Given the description of an element on the screen output the (x, y) to click on. 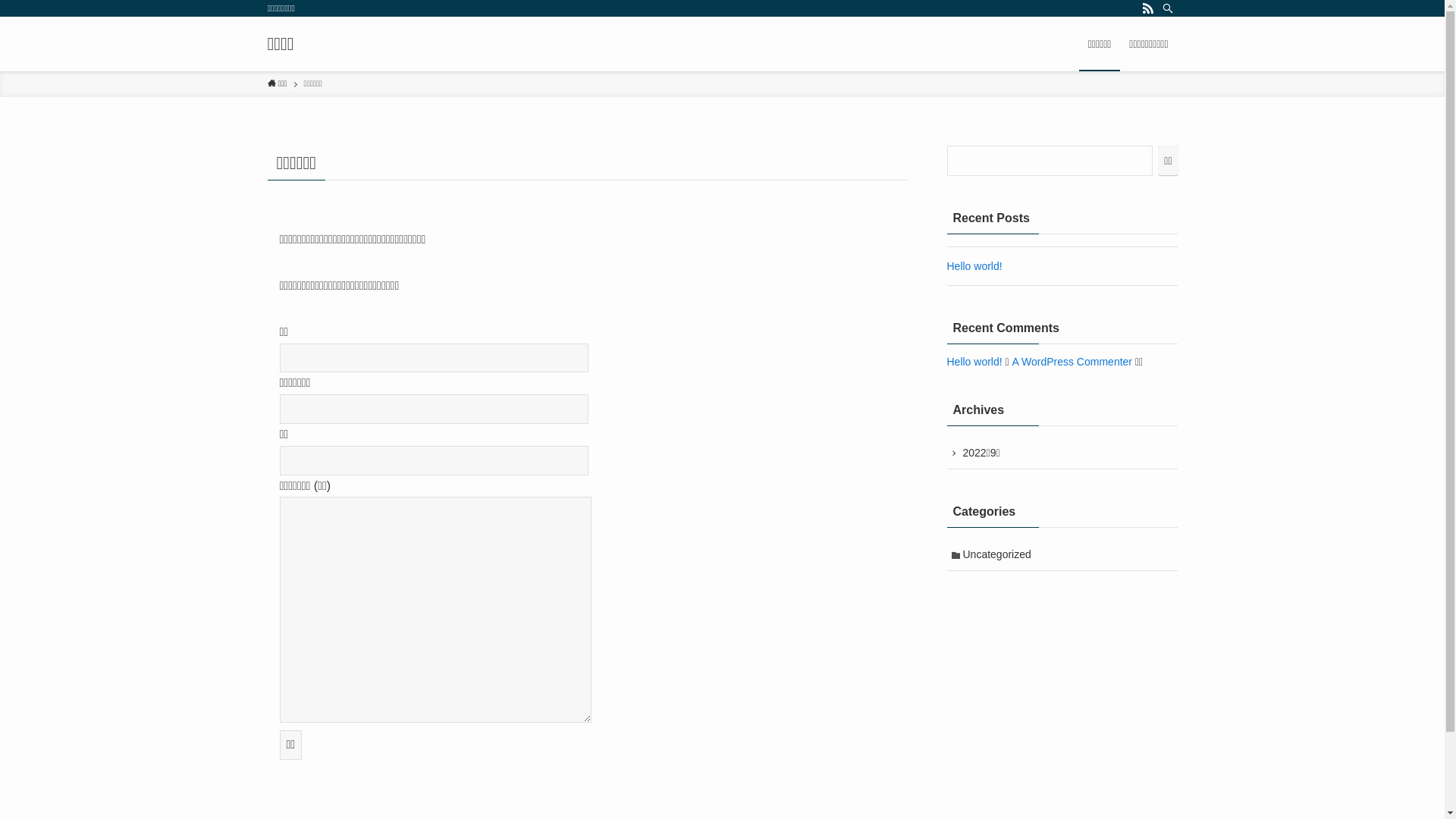
A WordPress Commenter Element type: text (1072, 361)
search Element type: text (921, 421)
Hello world! Element type: text (973, 361)
Hello world! Element type: text (973, 266)
Uncategorized Element type: text (1061, 555)
